Given the description of an element on the screen output the (x, y) to click on. 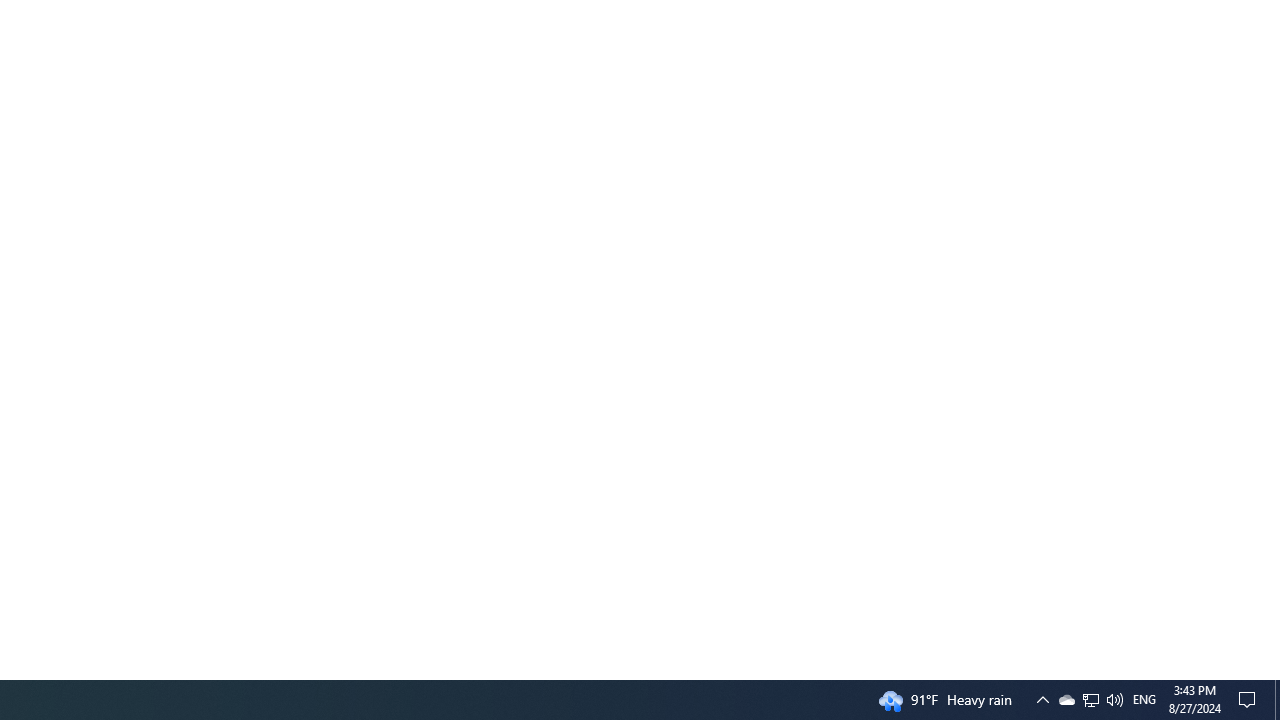
Notification Chevron (1042, 699)
Show desktop (1277, 699)
Action Center, No new notifications (1250, 699)
Tray Input Indicator - English (United States) (1144, 699)
Q2790: 100% (1114, 699)
User Promoted Notification Area (1066, 699)
